Given the description of an element on the screen output the (x, y) to click on. 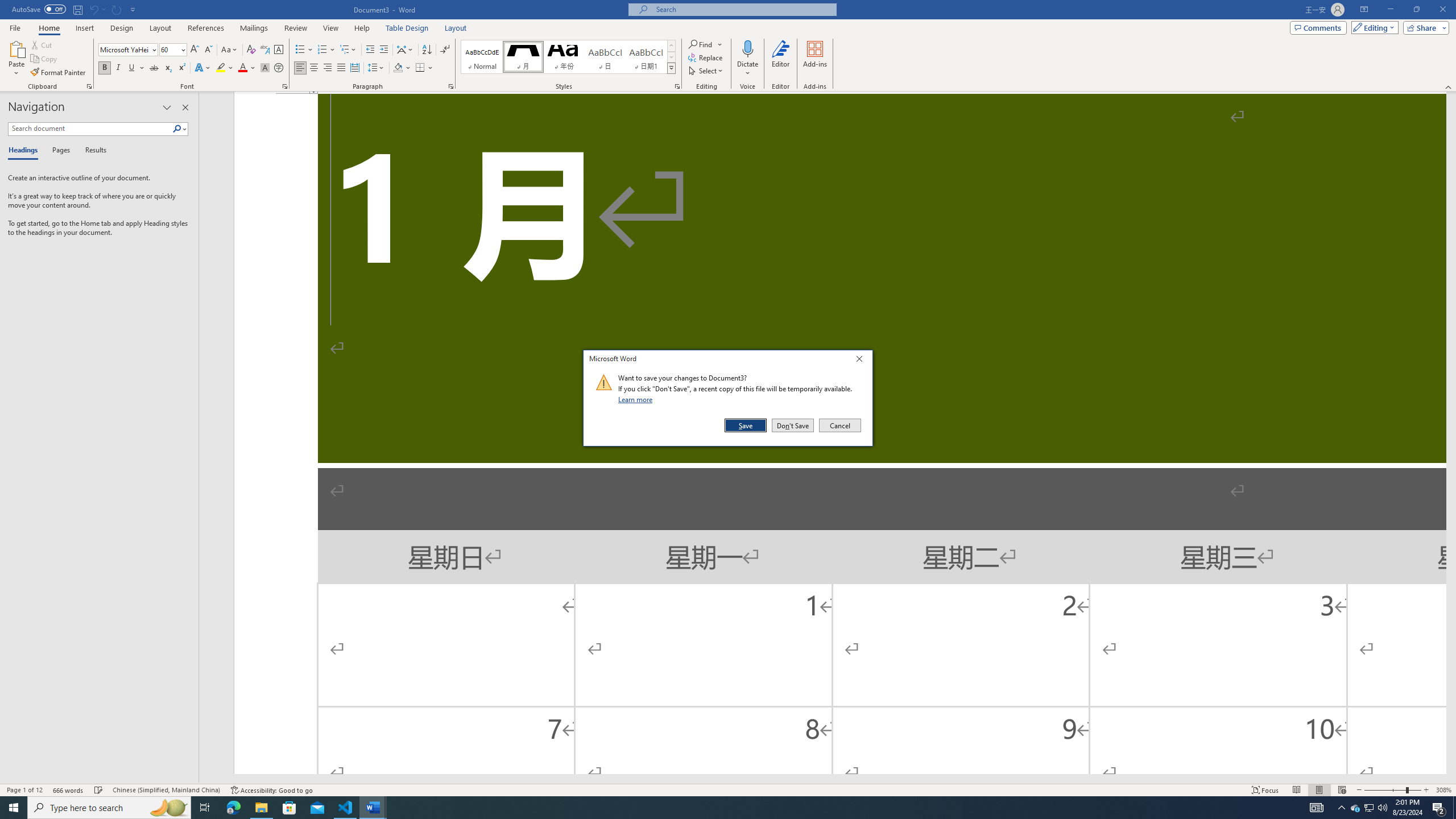
Italic (118, 67)
Q2790: 100% (1382, 807)
Bullets (304, 49)
View (330, 28)
More Options (747, 68)
Change Case (229, 49)
Cut (42, 44)
Multilevel List (347, 49)
Home (48, 28)
Paste (16, 48)
Select (705, 69)
Strikethrough (154, 67)
Font Color (246, 67)
Page Number Page 1 of 12 (24, 790)
